Given the description of an element on the screen output the (x, y) to click on. 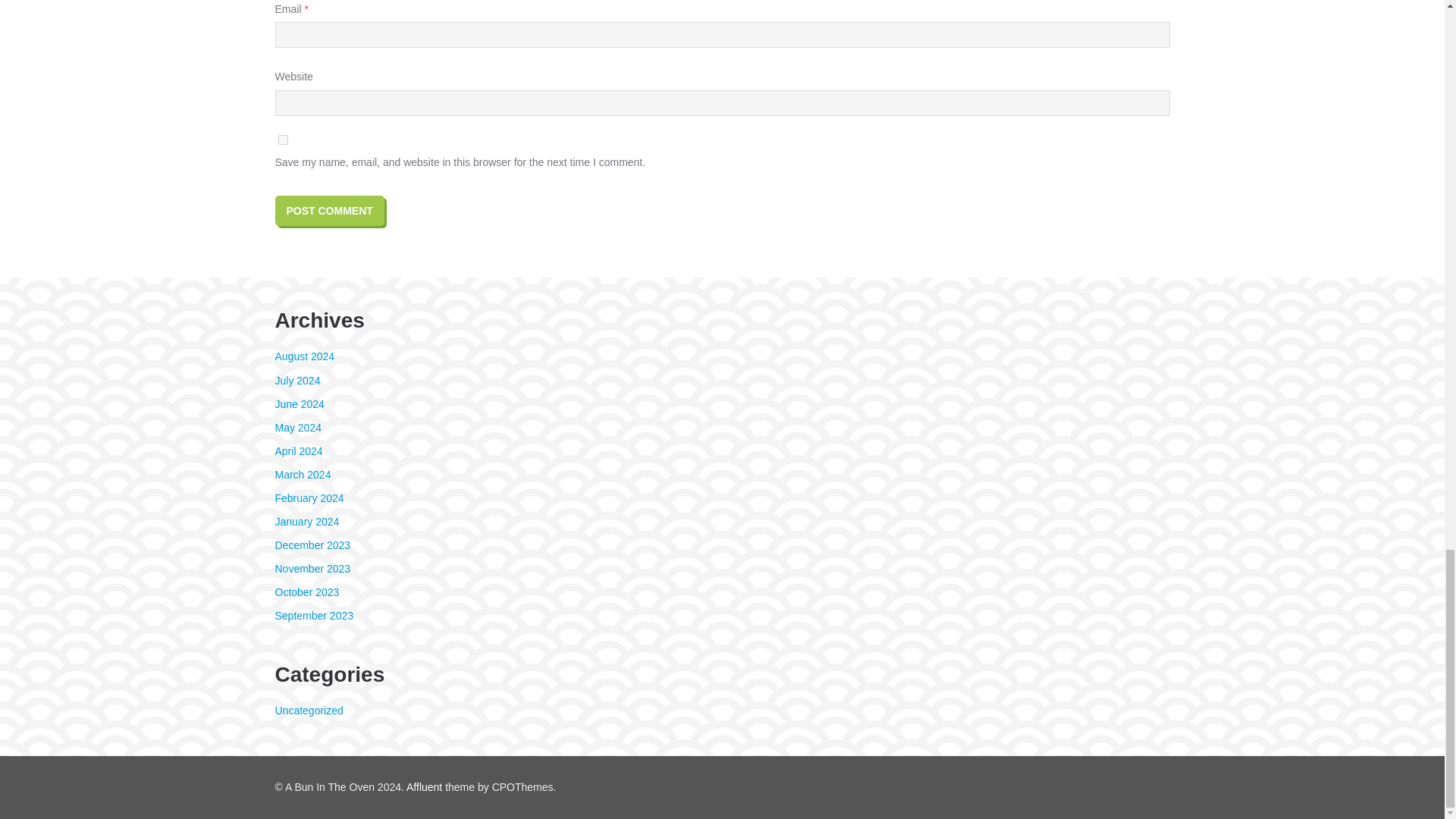
Affluent (424, 787)
January 2024 (307, 521)
February 2024 (309, 498)
November 2023 (312, 568)
May 2024 (297, 427)
August 2024 (304, 356)
October 2023 (307, 592)
June 2024 (299, 404)
Uncategorized (308, 710)
March 2024 (302, 474)
